Given the description of an element on the screen output the (x, y) to click on. 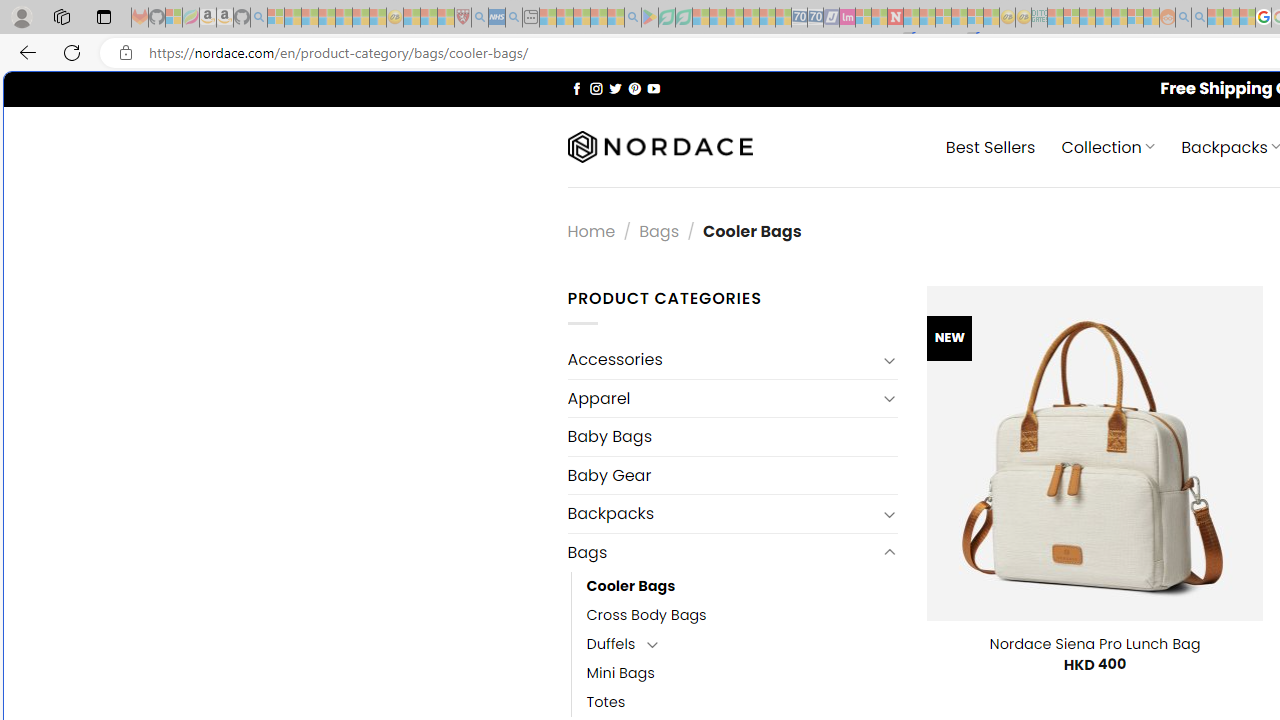
Follow on Facebook (576, 88)
Cooler Bags (742, 585)
Follow on Pinterest (634, 88)
